Given the description of an element on the screen output the (x, y) to click on. 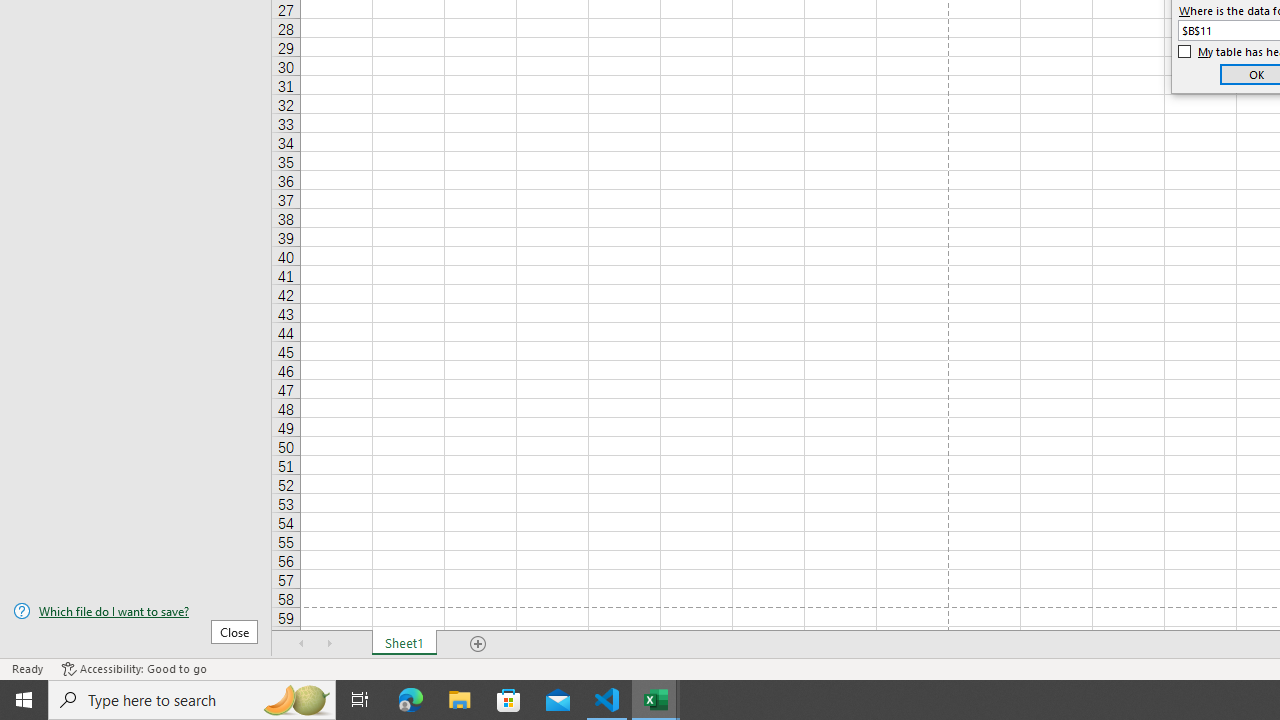
Close (234, 631)
Accessibility Checker Accessibility: Good to go (134, 668)
Sheet1 (404, 644)
Scroll Left (302, 644)
Add Sheet (478, 644)
Scroll Right (330, 644)
Which file do I want to save? (136, 611)
